Given the description of an element on the screen output the (x, y) to click on. 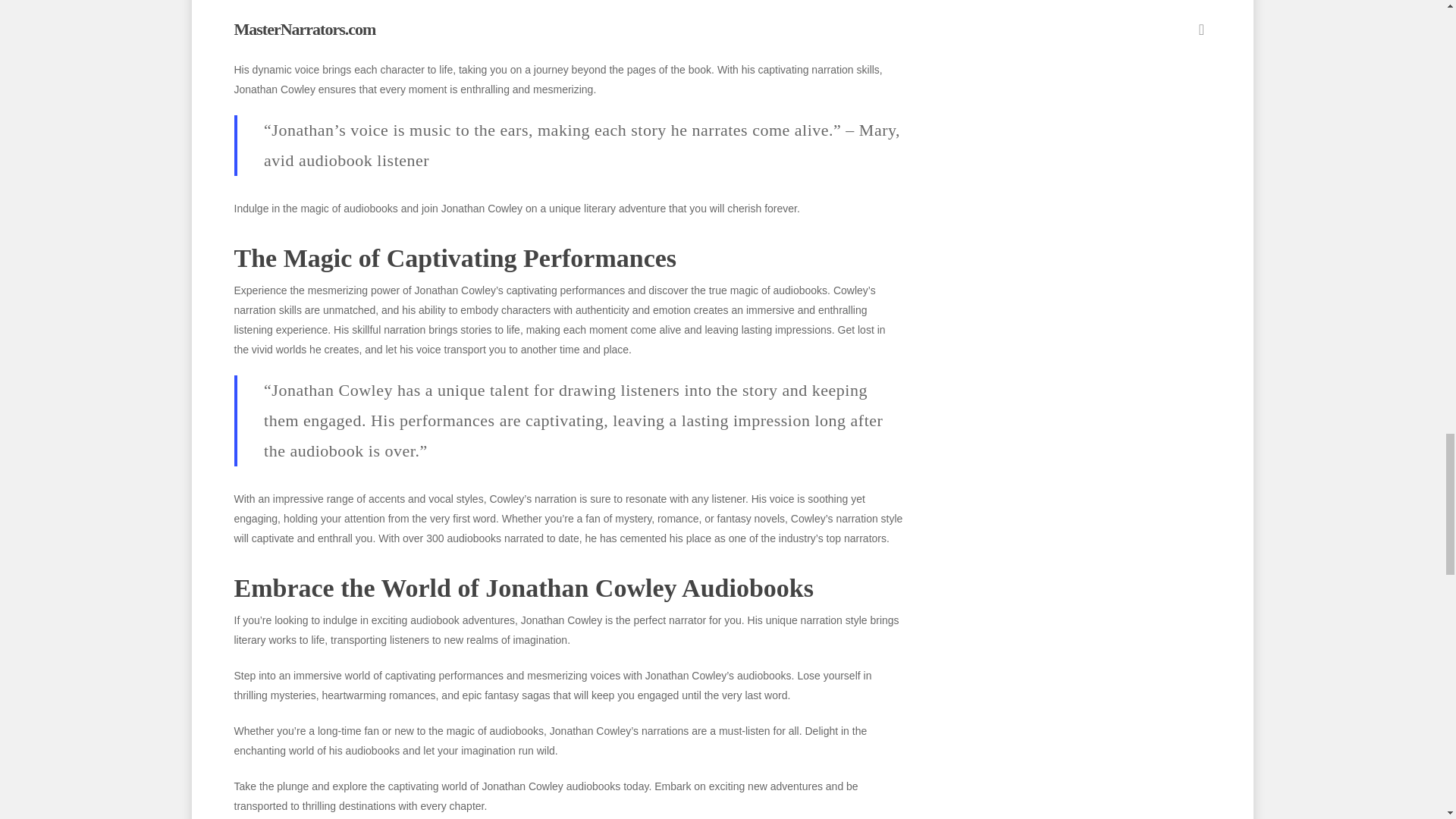
THE INQUISITOR'S TALE Audiobook Trailer (567, 18)
